Given the description of an element on the screen output the (x, y) to click on. 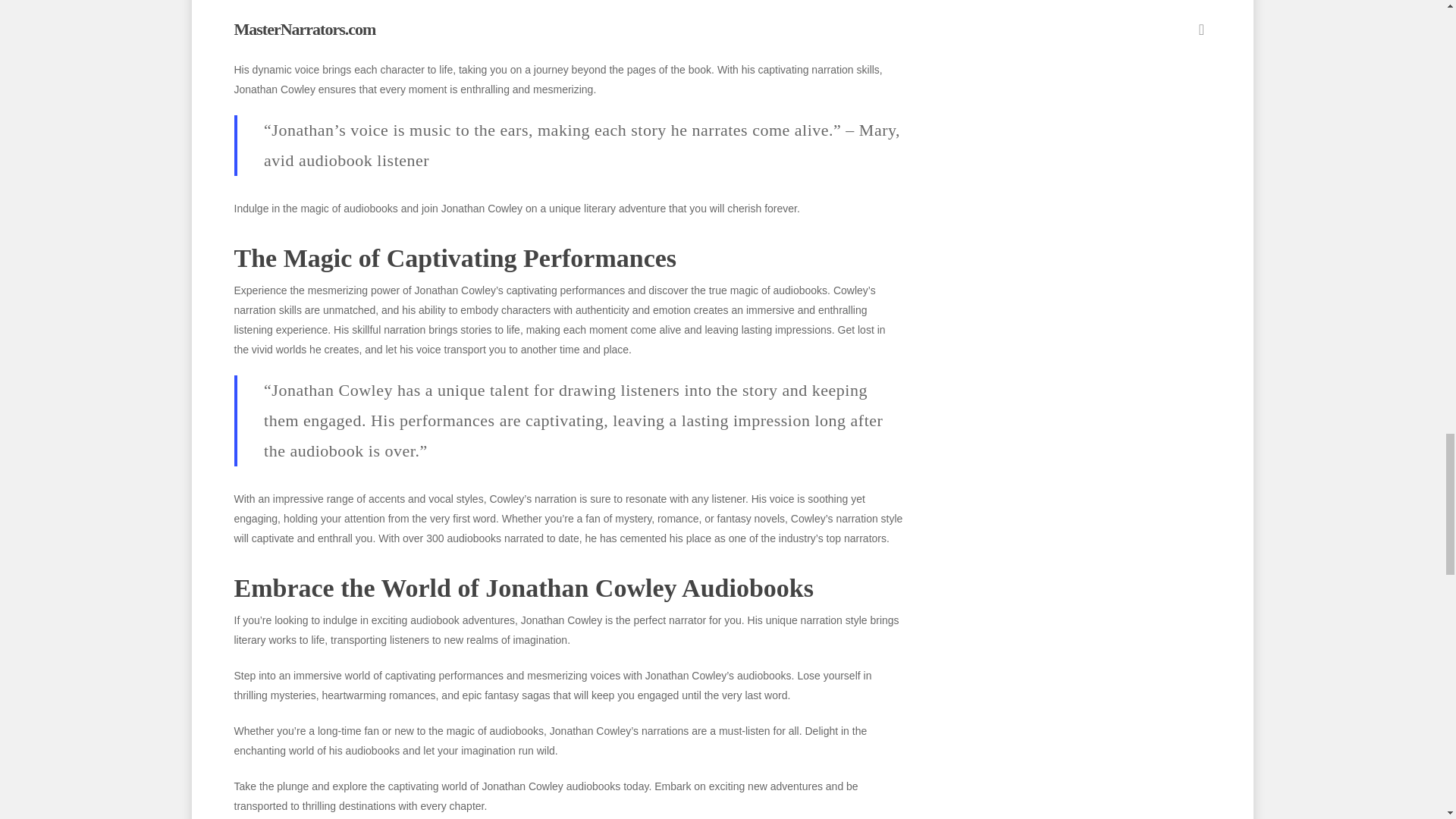
THE INQUISITOR'S TALE Audiobook Trailer (567, 18)
